Given the description of an element on the screen output the (x, y) to click on. 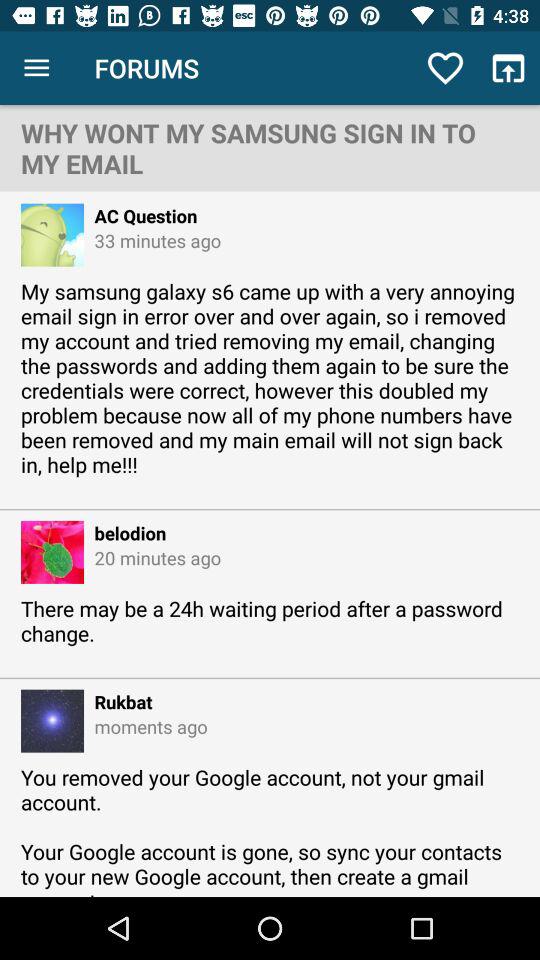
open icon above why wont my icon (36, 68)
